Given the description of an element on the screen output the (x, y) to click on. 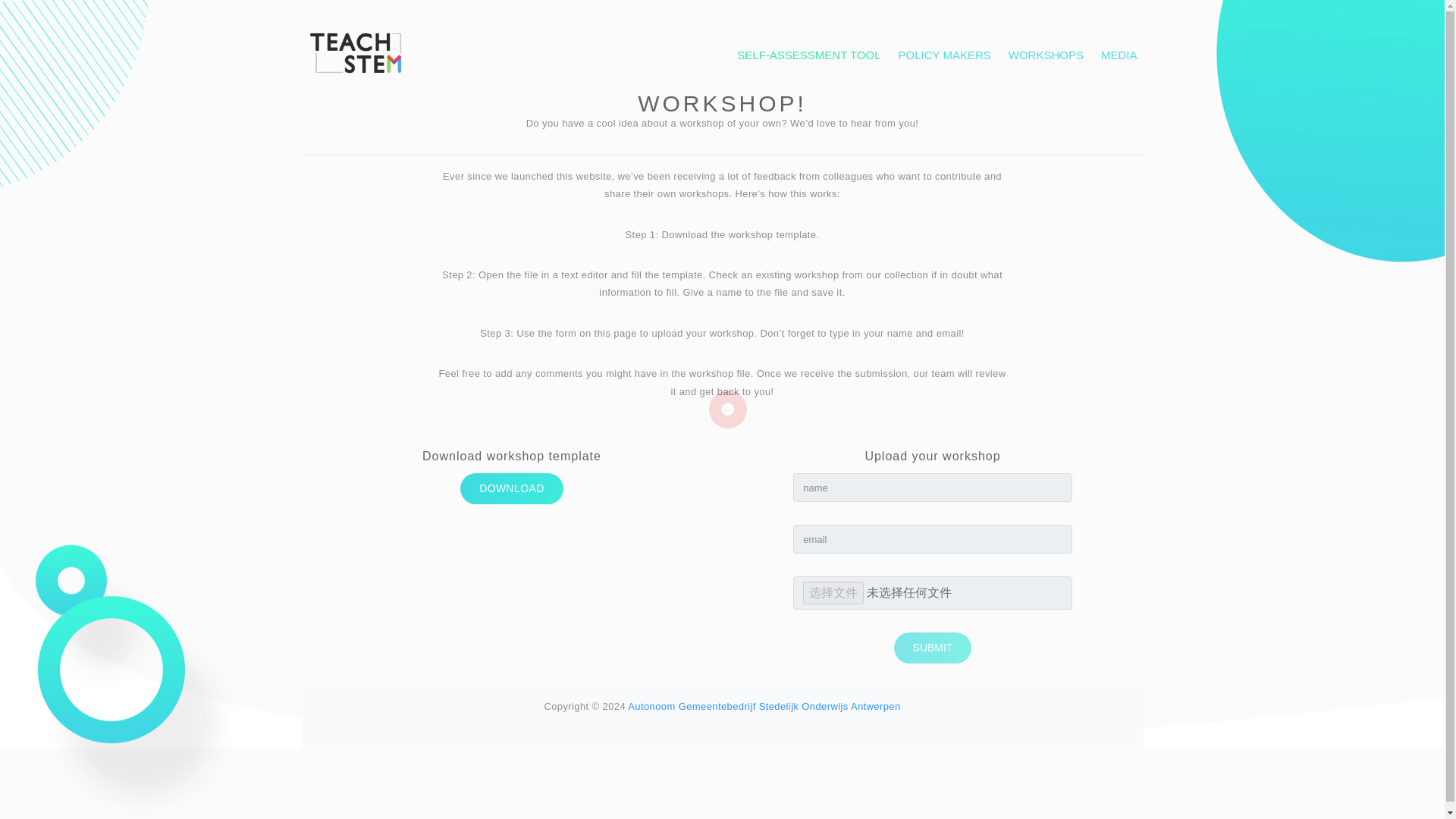
submit (932, 647)
submit (932, 647)
DOWNLOAD (511, 488)
POLICY MAKERS (944, 55)
WORKSHOPS (1046, 55)
SELF-ASSESSMENT TOOL (808, 55)
MEDIA (1118, 55)
Autonoom Gemeentebedrijf Stedelijk Onderwijs Antwerpen (763, 706)
